Given the description of an element on the screen output the (x, y) to click on. 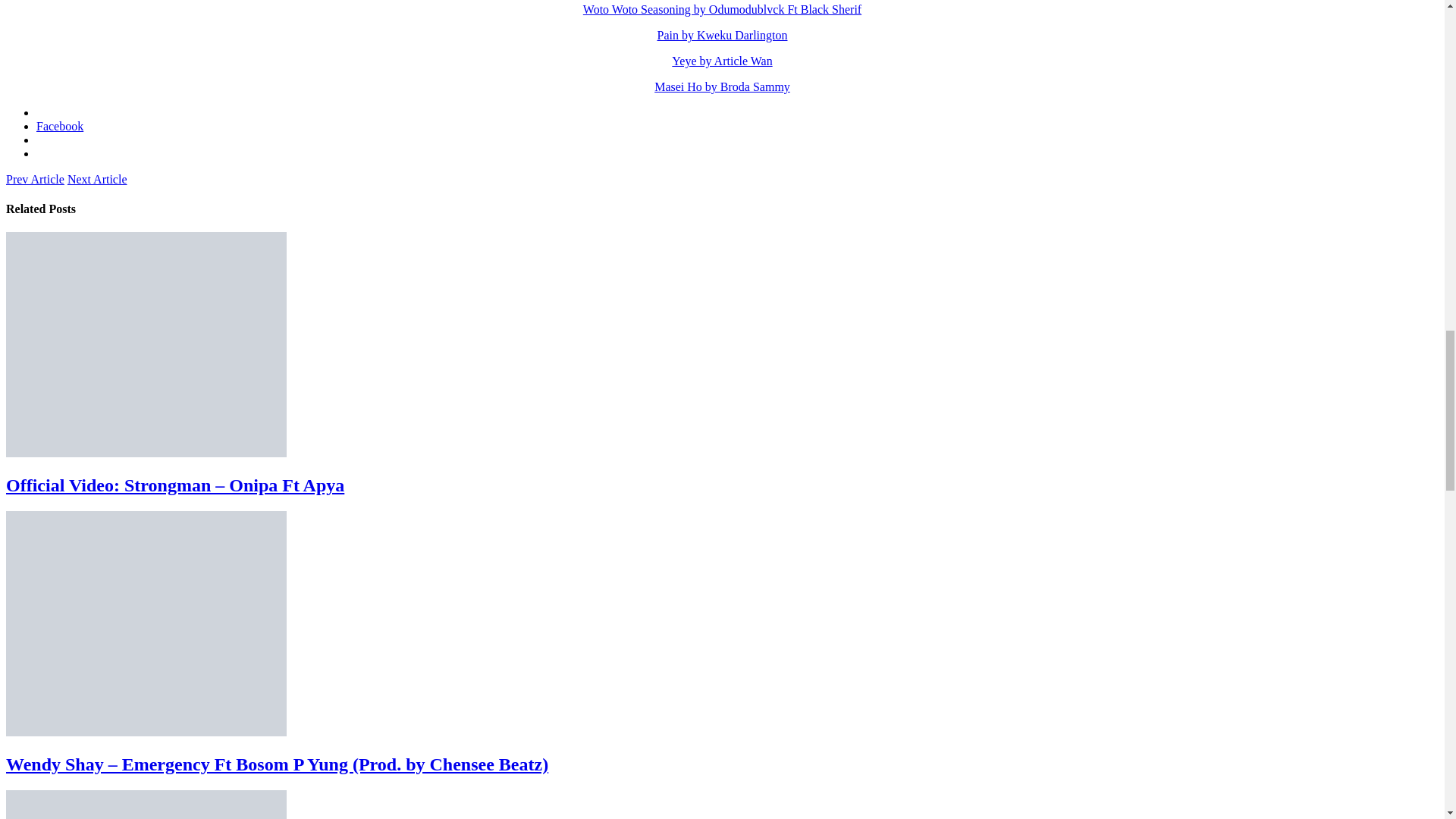
Yeye by Article Wan (721, 60)
Masei Ho by Broda Sammy (721, 86)
Pain by Kweku Darlington (721, 34)
Facebook (59, 125)
Woto Woto Seasoning by Odumodublvck Ft Black Sherif (722, 9)
